Given the description of an element on the screen output the (x, y) to click on. 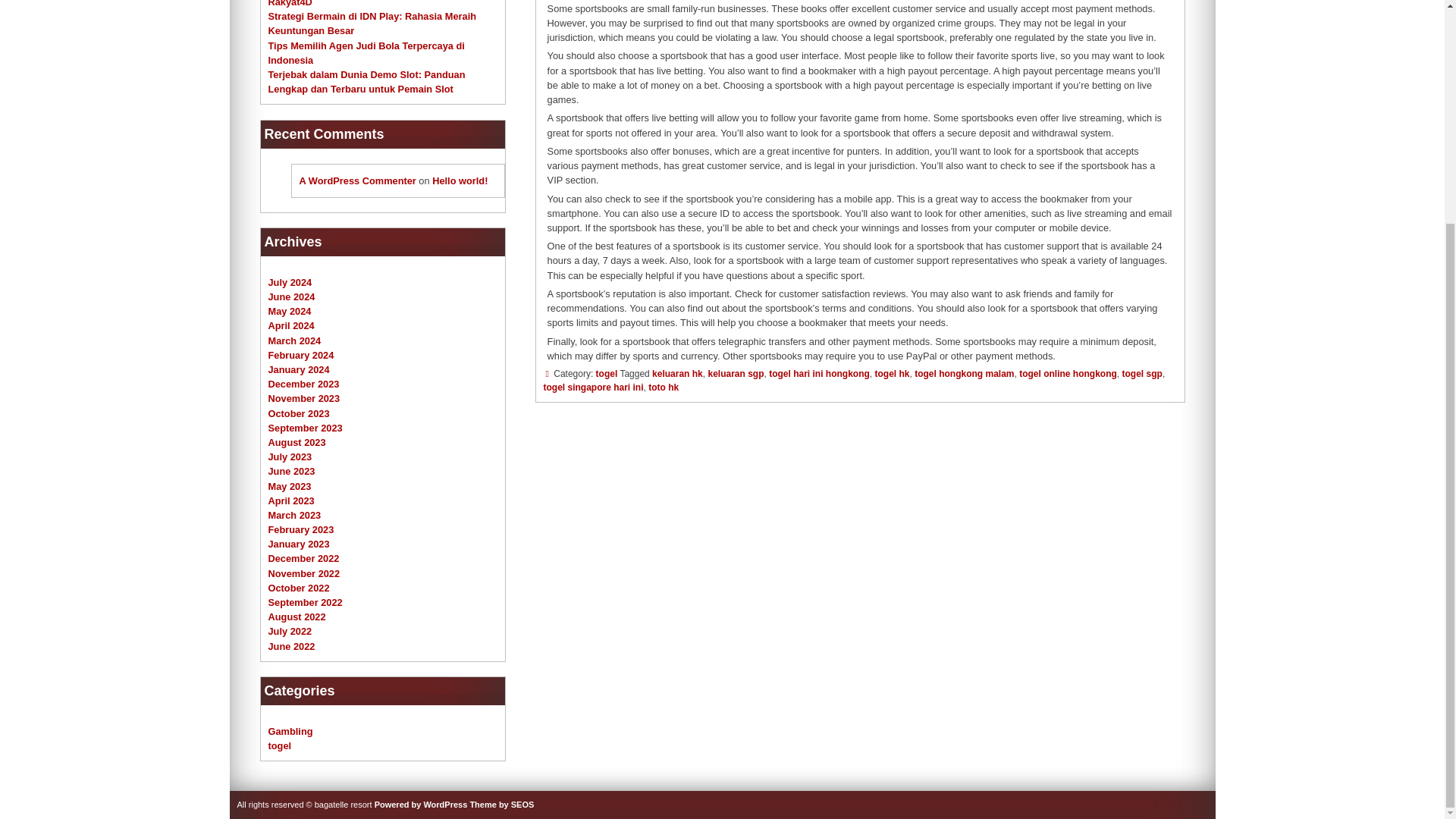
togel singapore hari ini (593, 387)
March 2024 (294, 340)
keluaran sgp (734, 373)
February 2024 (300, 355)
keluaran hk (677, 373)
togel hari ini hongkong (818, 373)
togel sgp (1141, 373)
Rahasia Keseruan Live Casino Online di Rakyat4D (360, 3)
Hello world! (459, 180)
togel (606, 373)
June 2023 (291, 471)
November 2023 (303, 398)
May 2024 (289, 310)
July 2023 (290, 456)
togel online hongkong (1067, 373)
